Given the description of an element on the screen output the (x, y) to click on. 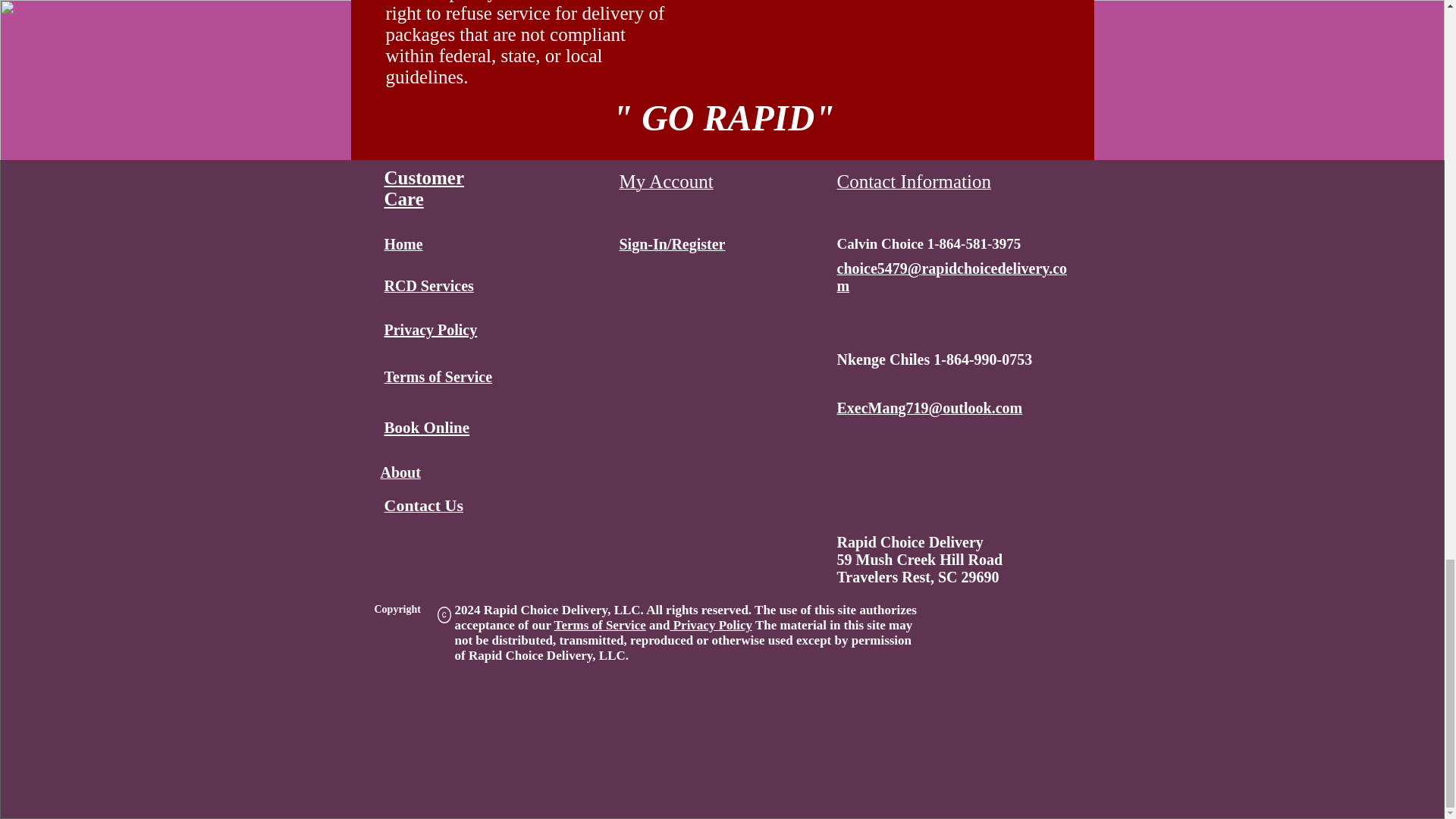
Book Online (426, 426)
About (400, 474)
Home (403, 245)
RCD Services (428, 287)
Privacy Policy (710, 625)
Terms of Service (600, 625)
Contact Us (423, 507)
Contact Information (914, 184)
Terms of Service (438, 378)
Privacy Policy (430, 329)
